Given the description of an element on the screen output the (x, y) to click on. 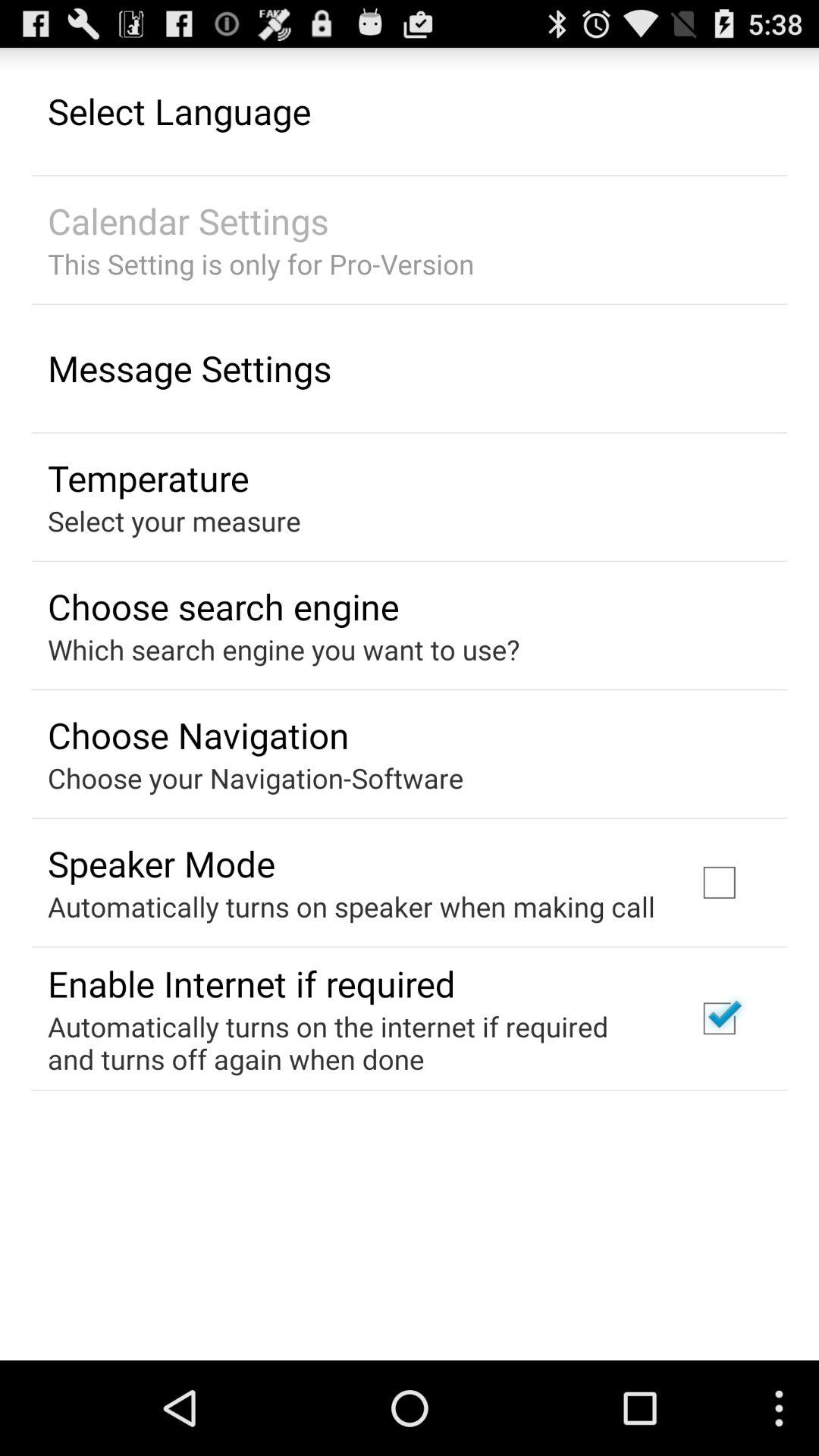
open the item below the choose your navigation app (161, 863)
